Given the description of an element on the screen output the (x, y) to click on. 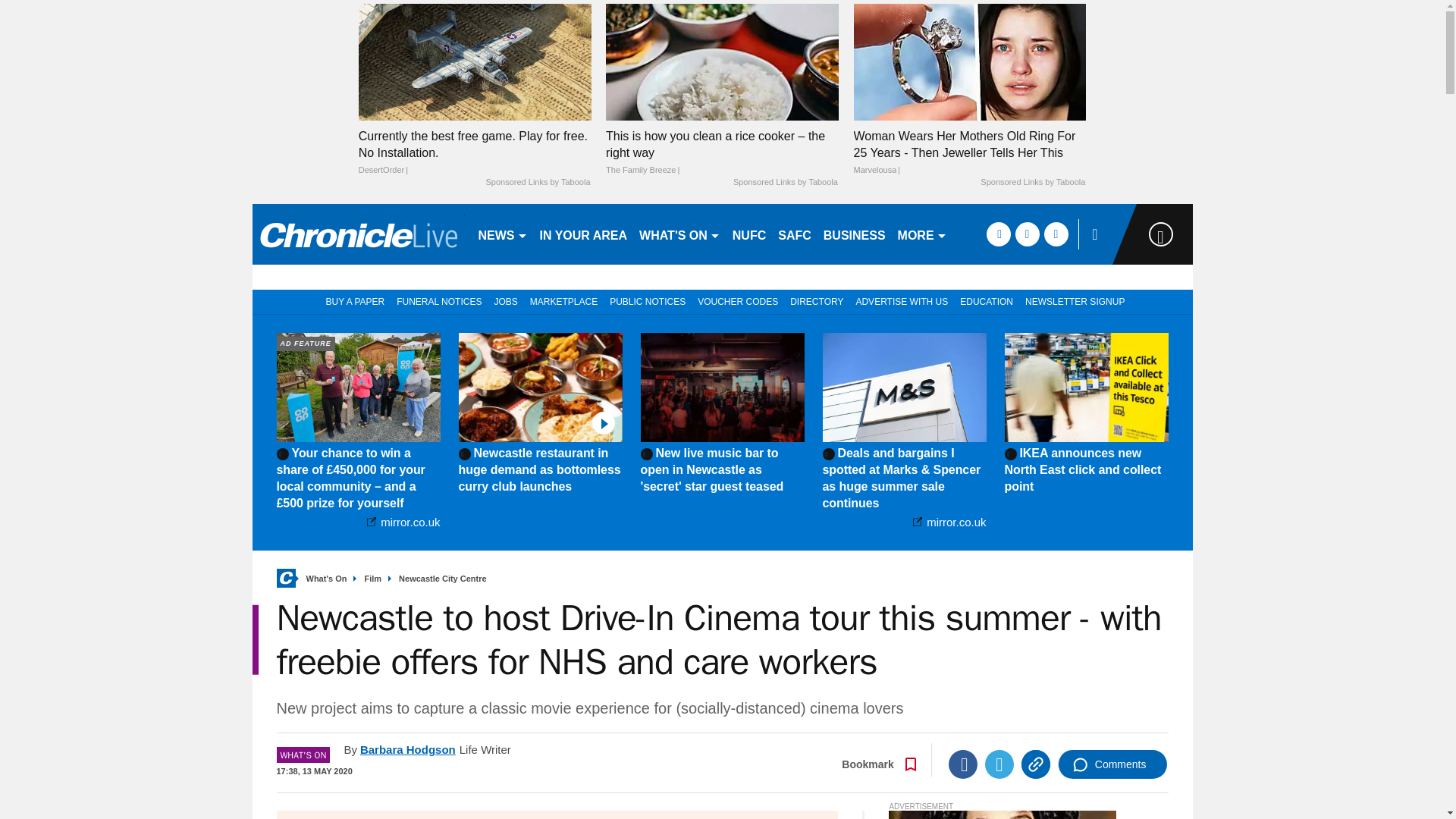
Sponsored Links by Taboola (785, 182)
Sponsored Links by Taboola (1031, 182)
twitter (1026, 233)
IN YOUR AREA (583, 233)
Comments (1112, 764)
WHAT'S ON (679, 233)
nechronicle (357, 233)
instagram (1055, 233)
Facebook (962, 764)
Sponsored Links by Taboola (536, 182)
NEWS (501, 233)
